Given the description of an element on the screen output the (x, y) to click on. 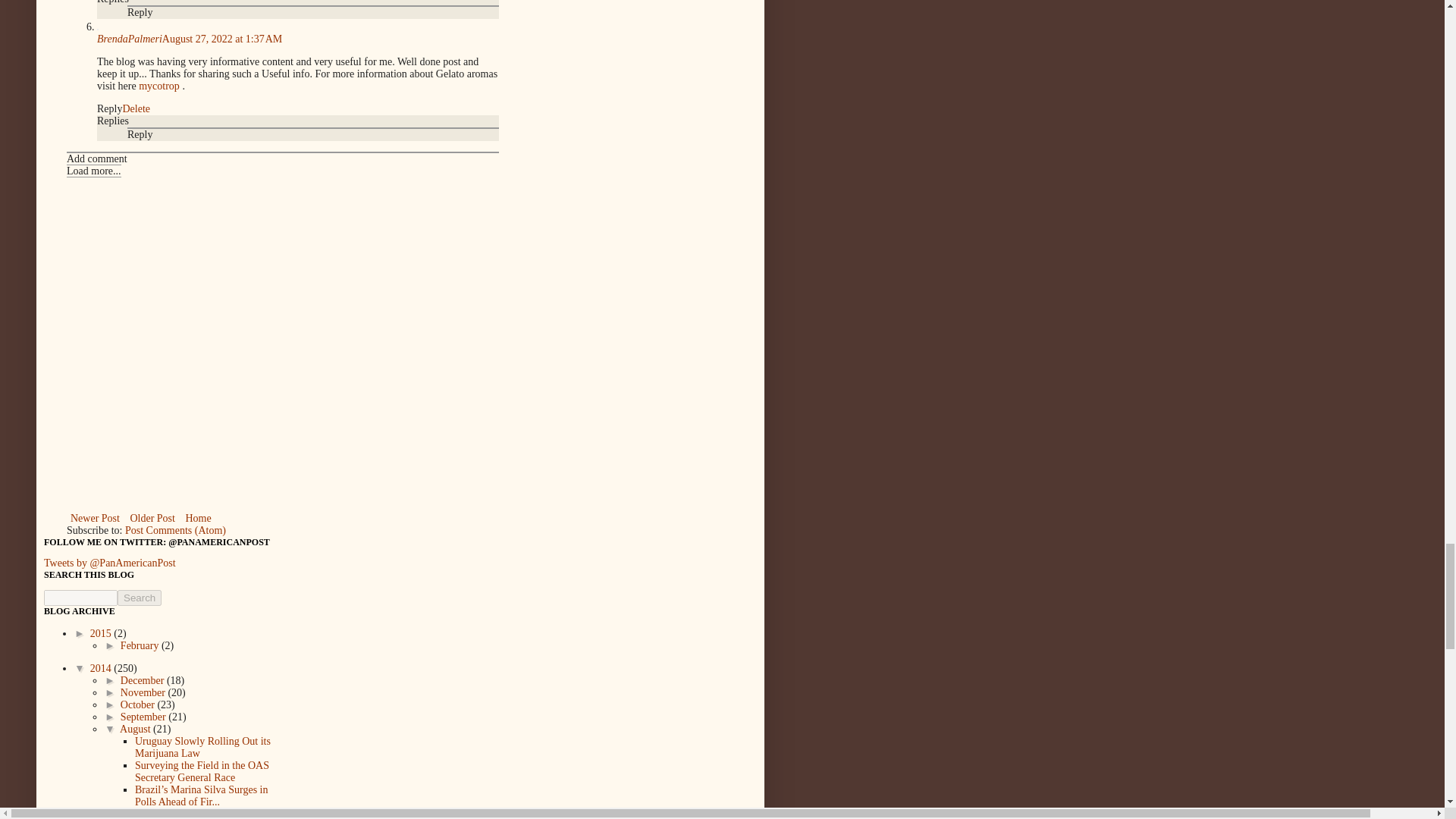
Older Post (152, 517)
search (139, 597)
Newer Post (94, 517)
Search (139, 597)
Search (139, 597)
search (80, 597)
